Given the description of an element on the screen output the (x, y) to click on. 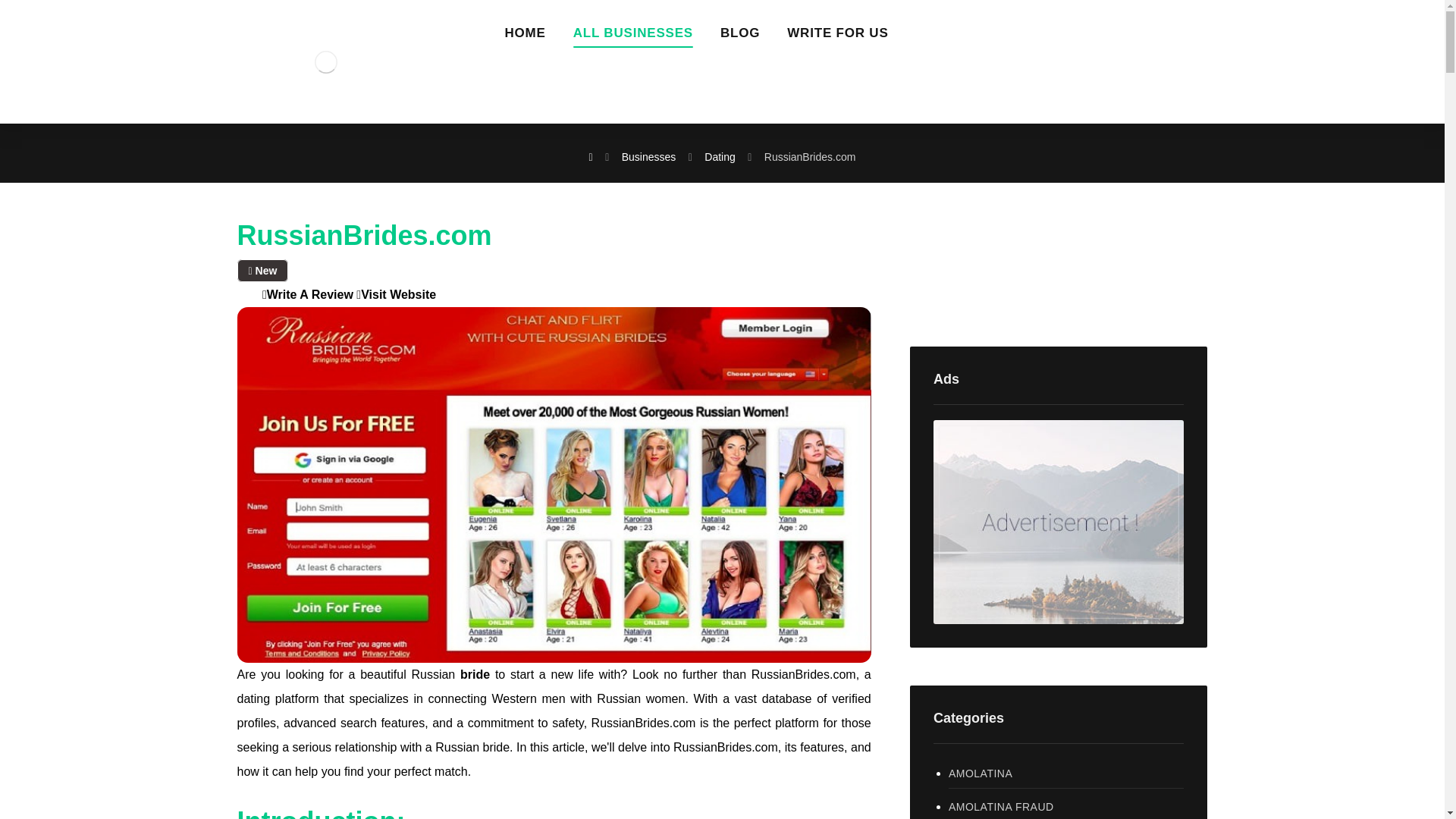
RussianBrides.com (810, 156)
New (261, 270)
Businesses (649, 156)
WRITE FOR US (837, 38)
Write A Review (307, 294)
HOME (525, 38)
BLOG (740, 38)
Best Dating Review Website (324, 61)
Dating (719, 156)
Visit Website (395, 294)
